Given the description of an element on the screen output the (x, y) to click on. 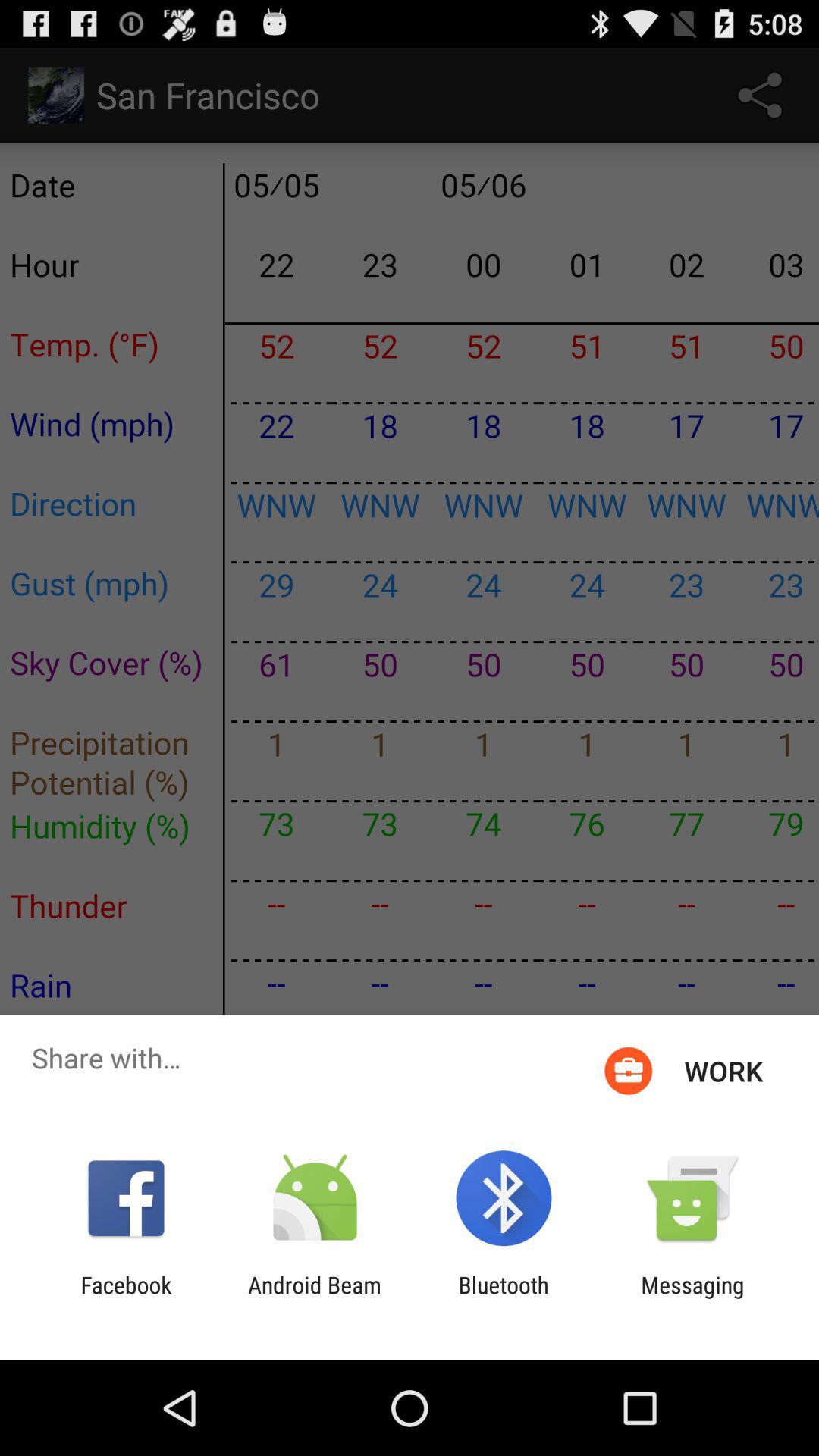
choose icon next to the android beam (503, 1298)
